Given the description of an element on the screen output the (x, y) to click on. 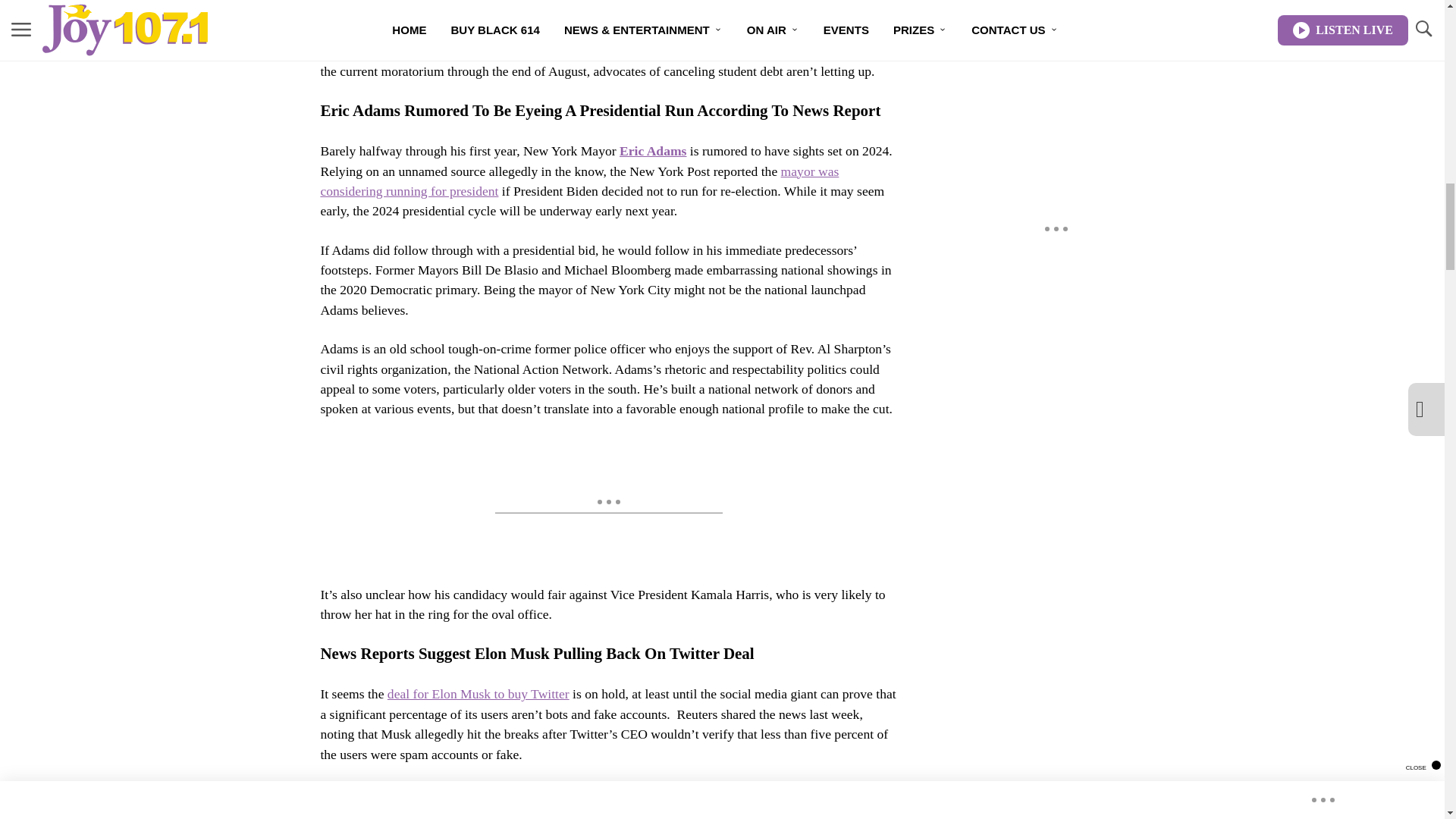
deal for Elon Musk to buy Twitter (478, 693)
mayor was considering running for president (579, 181)
Eric Adams (652, 150)
